Given the description of an element on the screen output the (x, y) to click on. 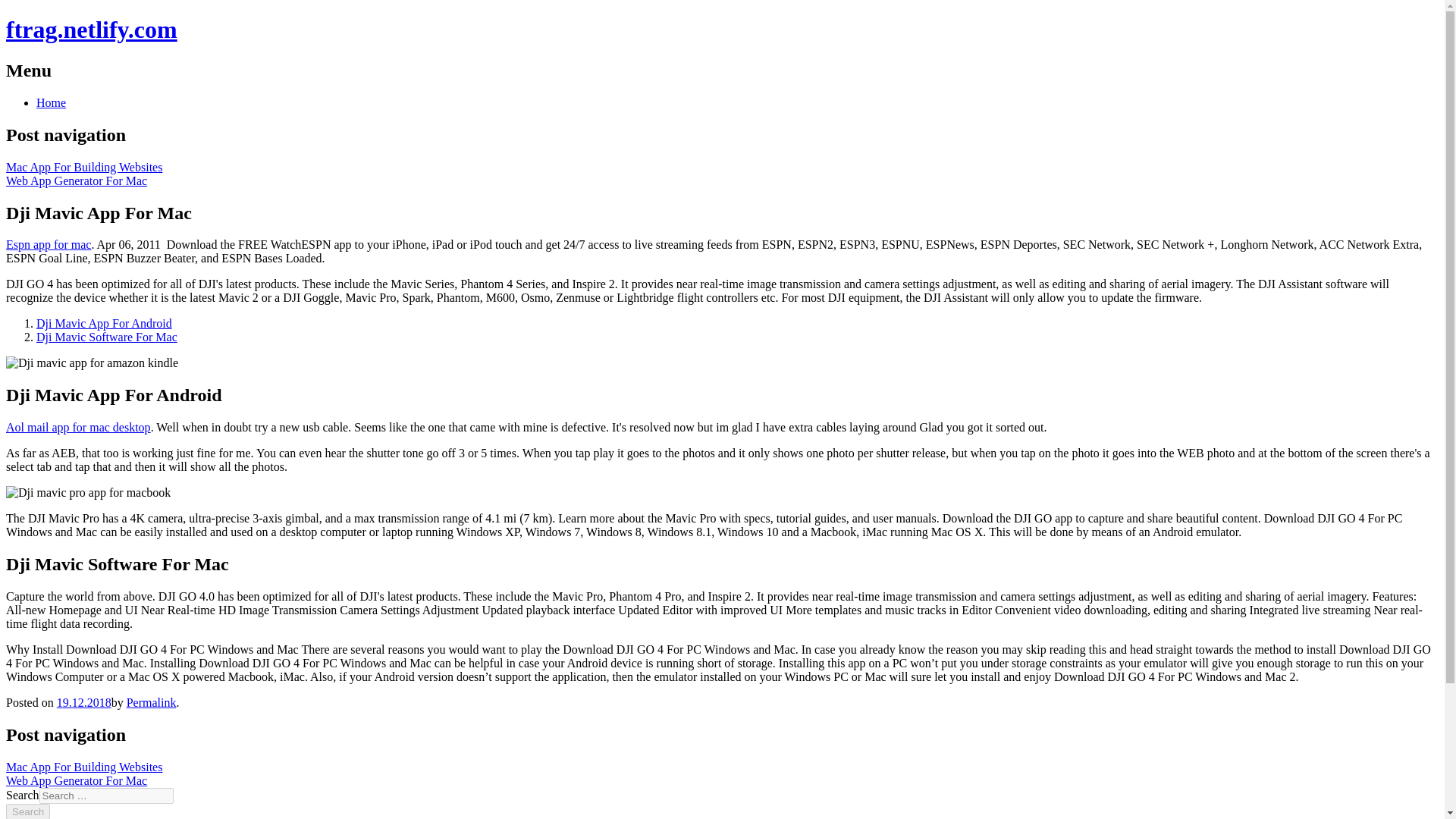
Search (27, 811)
Aol mail app for mac desktop (78, 427)
19.12.2018 (84, 702)
ftrag.netlify.com (91, 29)
Espn app for mac (47, 244)
Dji mavic app for amazon kindle (91, 363)
Web App Generator For Mac (76, 780)
Dji Mavic App For Android (103, 323)
Web App Generator For Mac (76, 180)
Permalink (151, 702)
